Given the description of an element on the screen output the (x, y) to click on. 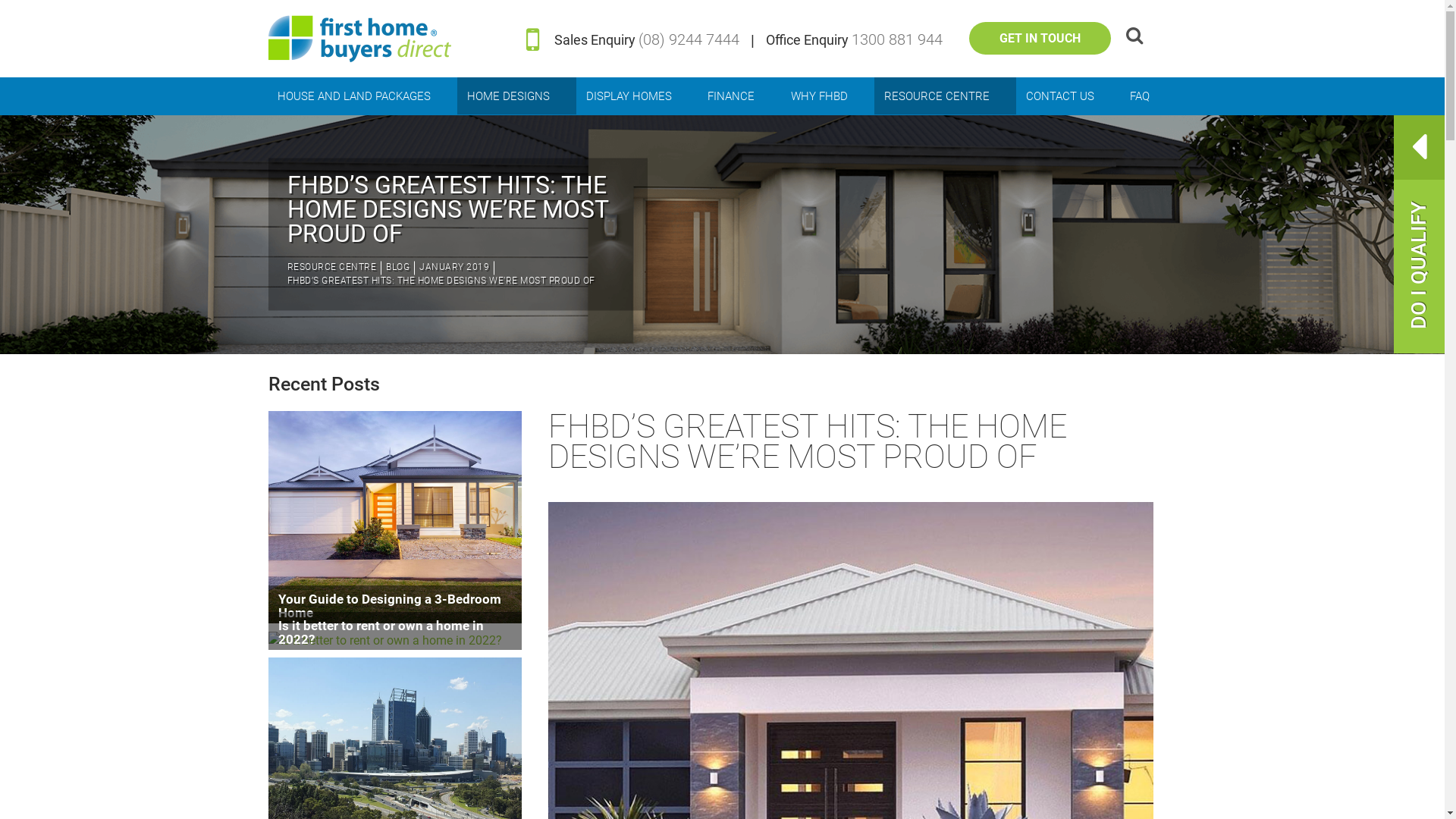
Is it better to rent or own a home in 2022? Element type: text (395, 639)
RESOURCE CENTRE Element type: text (333, 268)
DISPLAY HOMES Element type: text (637, 96)
HOUSE AND LAND PACKAGES Element type: text (363, 95)
1300 881 944 Element type: text (896, 39)
WHY FHBD Element type: text (827, 95)
Your Guide to Designing a 3-Bedroom Home Element type: text (395, 517)
(08) 9244 7444 Element type: text (688, 39)
CONTACT US Element type: text (1068, 96)
JANUARY 2019 Element type: text (456, 268)
GET IN TOUCH Element type: text (1039, 37)
FINANCE Element type: text (739, 95)
RESOURCE CENTRE Element type: text (945, 95)
BLOG Element type: text (399, 268)
HOME DESIGNS Element type: text (516, 95)
FAQ Element type: text (1148, 96)
